Given the description of an element on the screen output the (x, y) to click on. 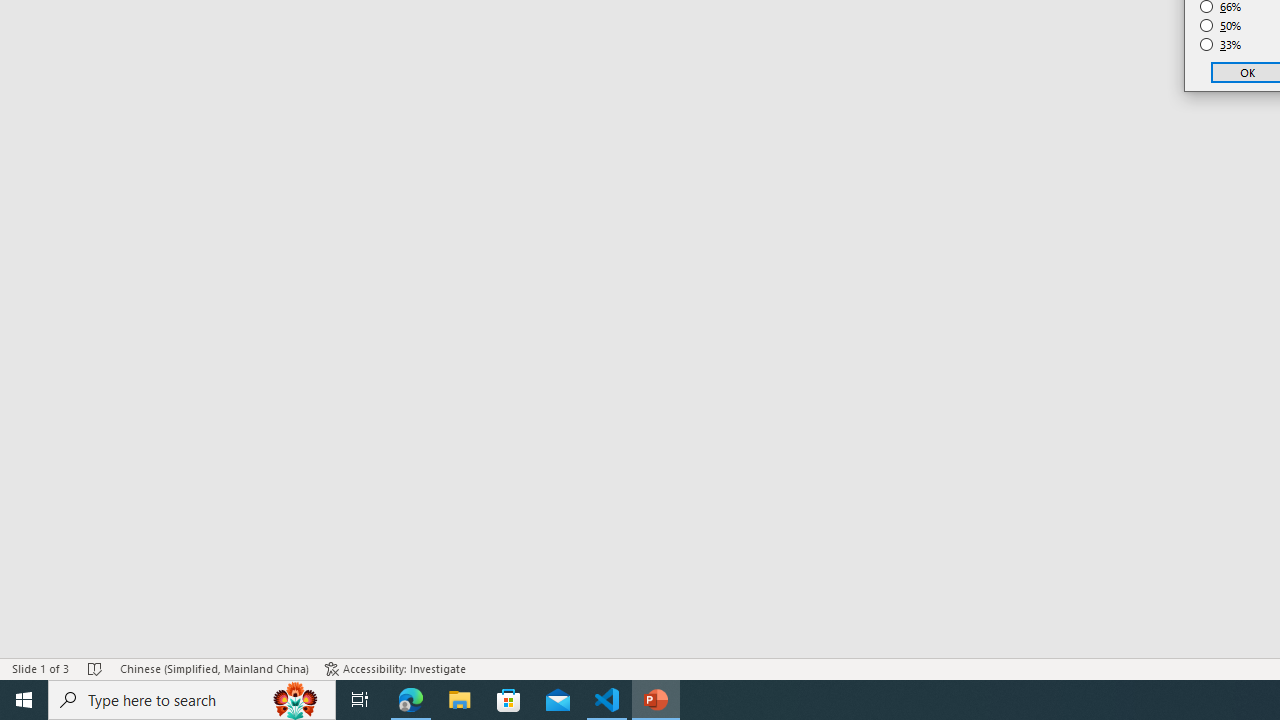
50% (1221, 25)
33% (1221, 44)
